Given the description of an element on the screen output the (x, y) to click on. 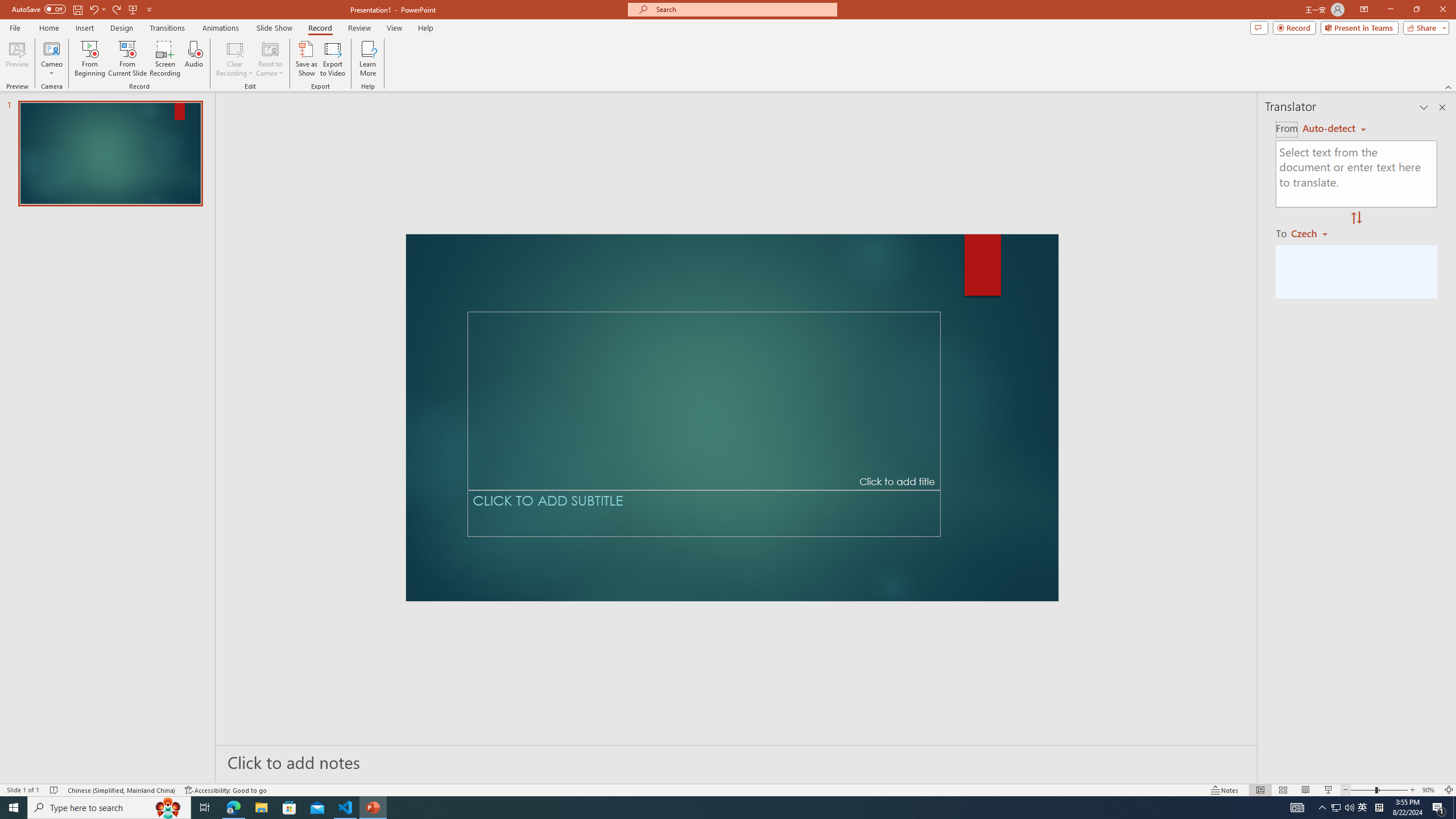
Class: MsoCommandBar (728, 789)
From Current Slide... (127, 58)
Learn More (368, 58)
Zoom 90% (1430, 790)
